Given the description of an element on the screen output the (x, y) to click on. 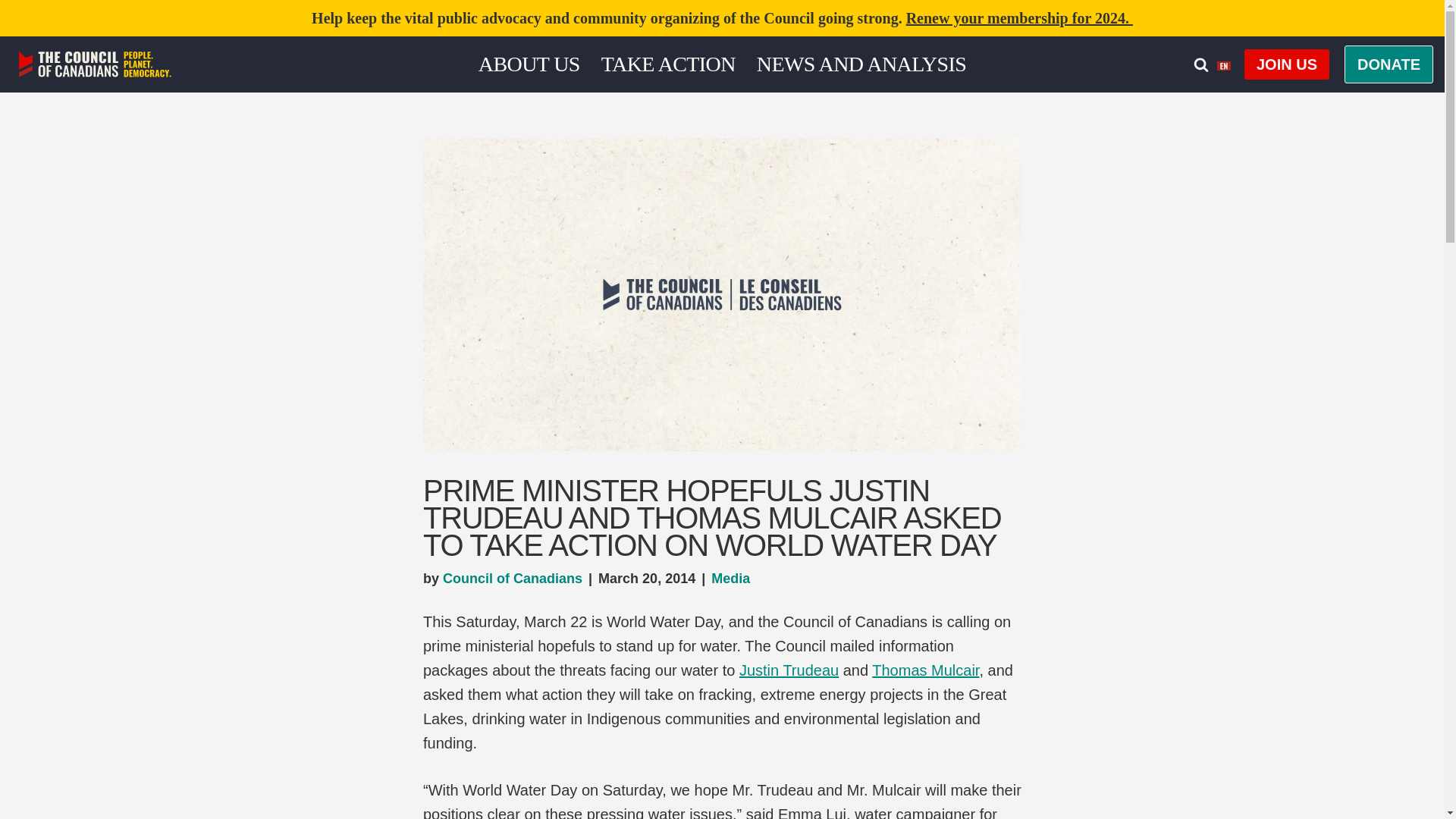
Renew your membership for 2024.  (1018, 17)
Council of Canadians (512, 578)
DONATE (1387, 64)
Posts by Council of Canadians (512, 578)
Justin Trudeau (788, 669)
ABOUT US (529, 63)
JOIN US (1286, 64)
NEWS AND ANALYSIS (861, 63)
TAKE ACTION (668, 63)
Skip to content (11, 31)
Media (730, 578)
Thomas Mulcair (925, 669)
